Given the description of an element on the screen output the (x, y) to click on. 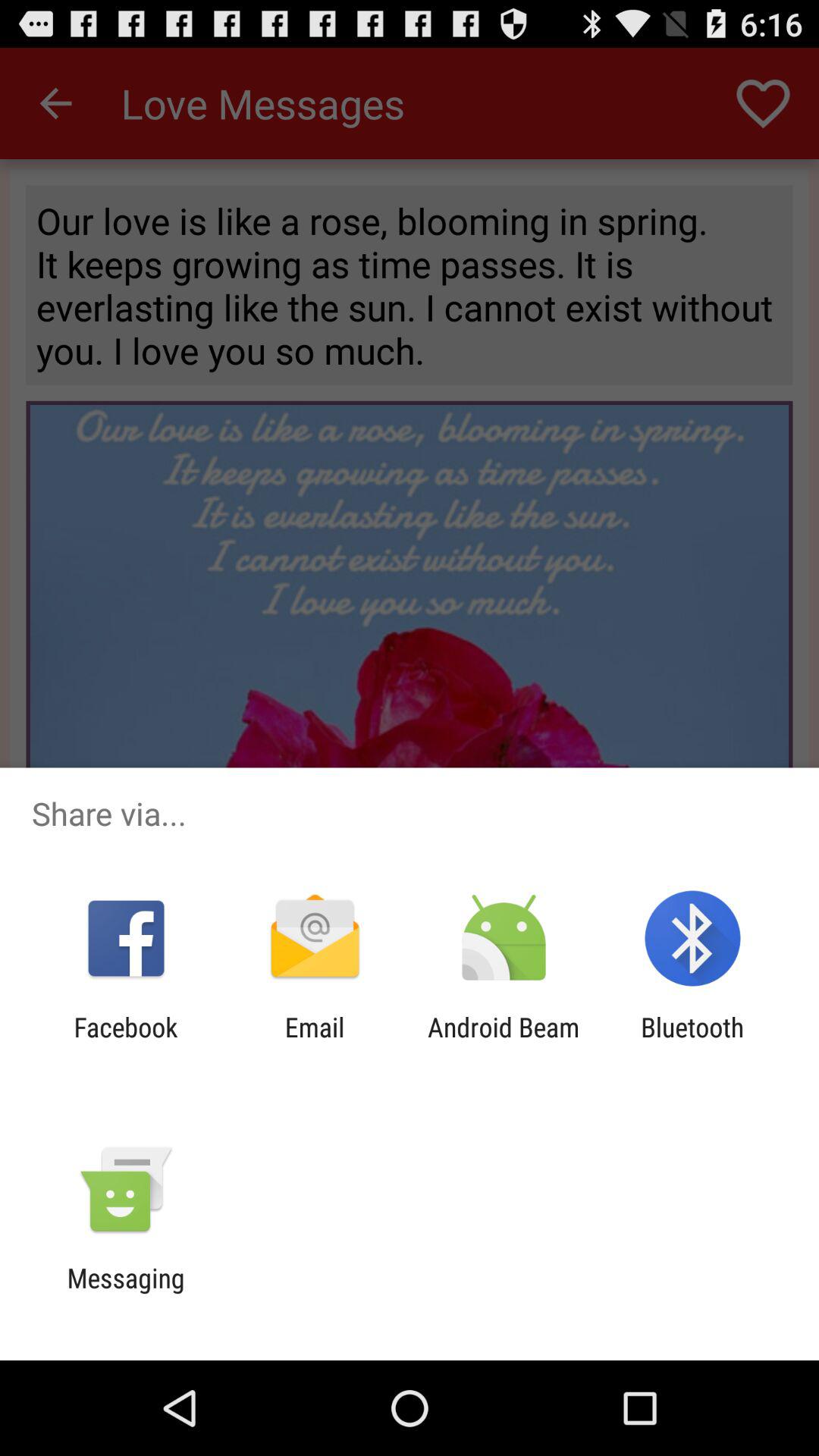
choose item next to the email app (125, 1042)
